Given the description of an element on the screen output the (x, y) to click on. 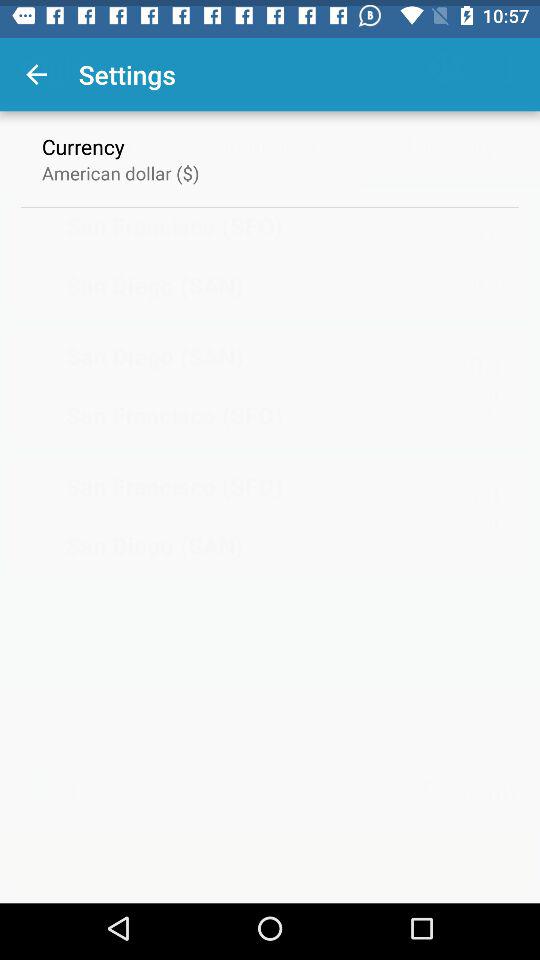
tap the icon above the american dollar ($) icon (83, 139)
